Given the description of an element on the screen output the (x, y) to click on. 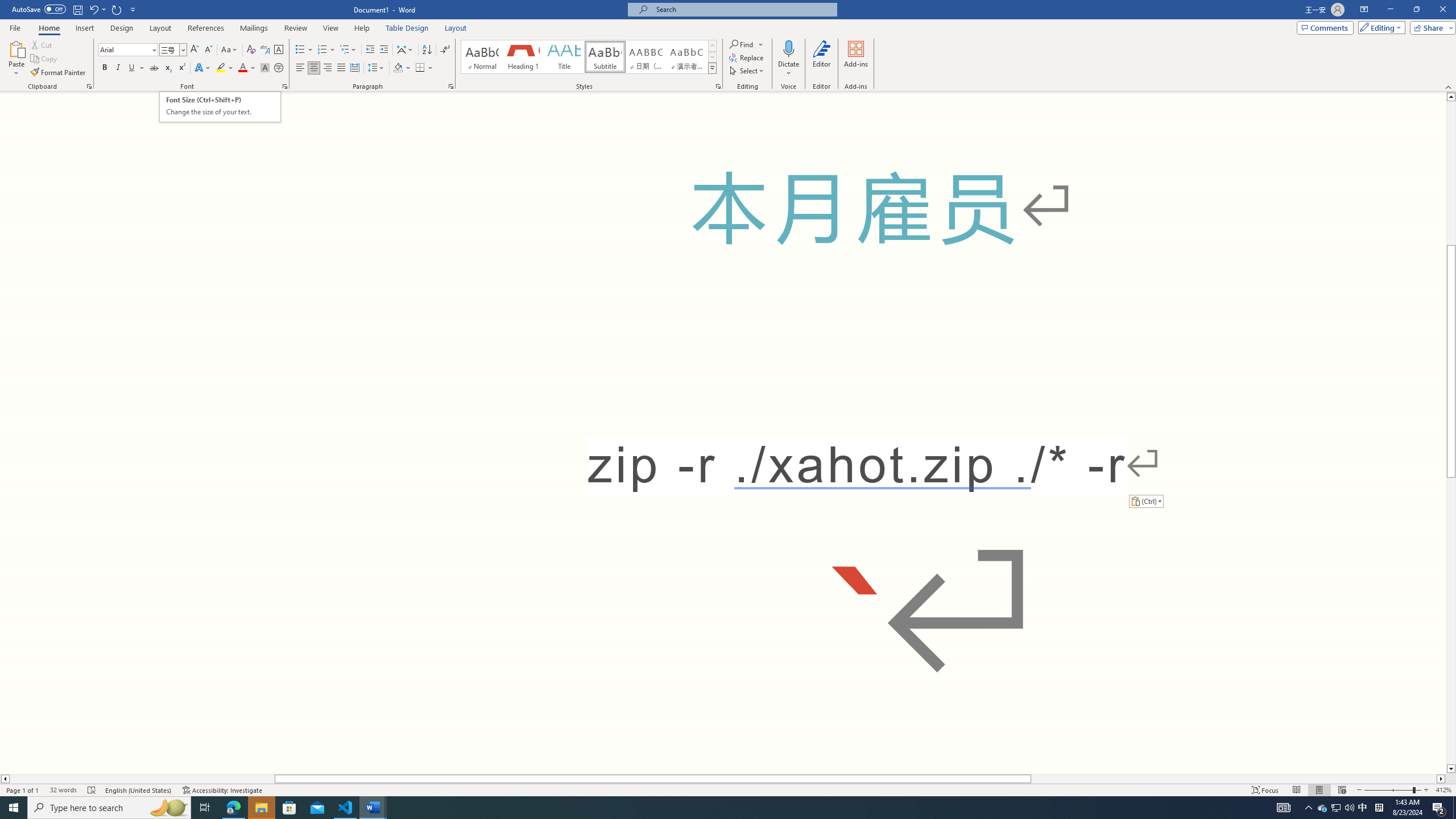
Undo Paste (92, 9)
Title (564, 56)
